Given the description of an element on the screen output the (x, y) to click on. 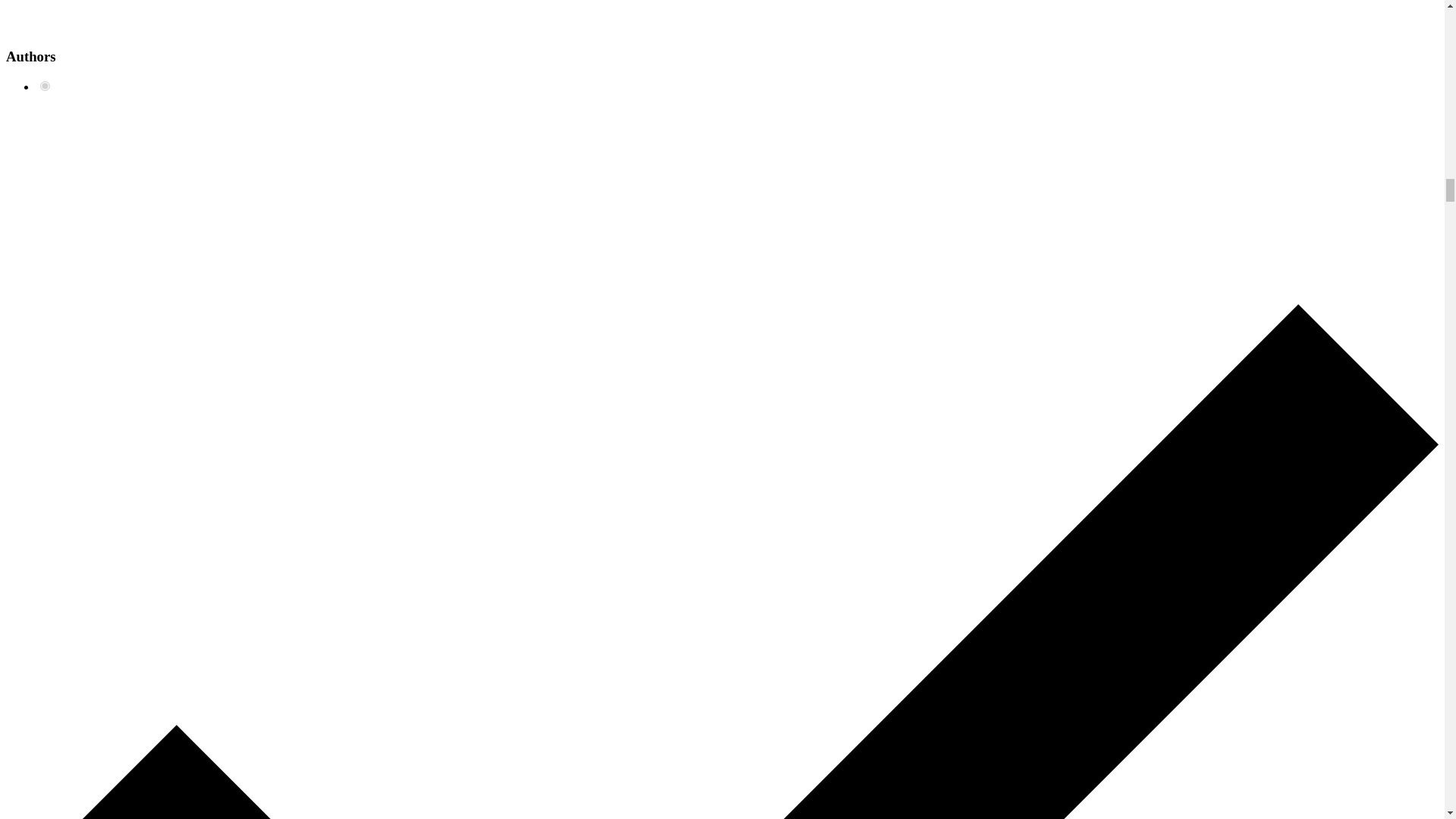
Cheung, Derek (44, 85)
